Given the description of an element on the screen output the (x, y) to click on. 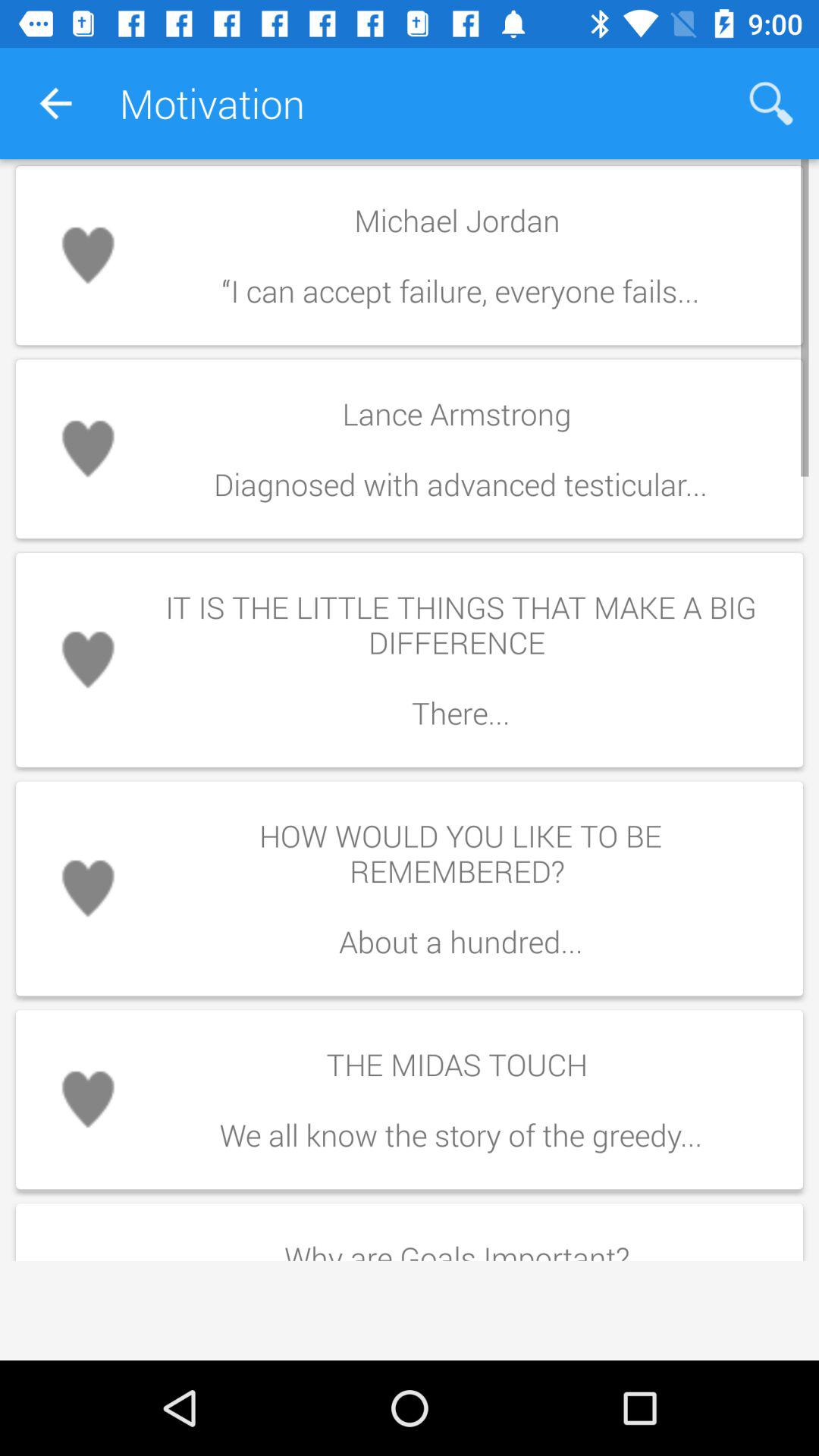
flip to the why are goals icon (460, 1243)
